Given the description of an element on the screen output the (x, y) to click on. 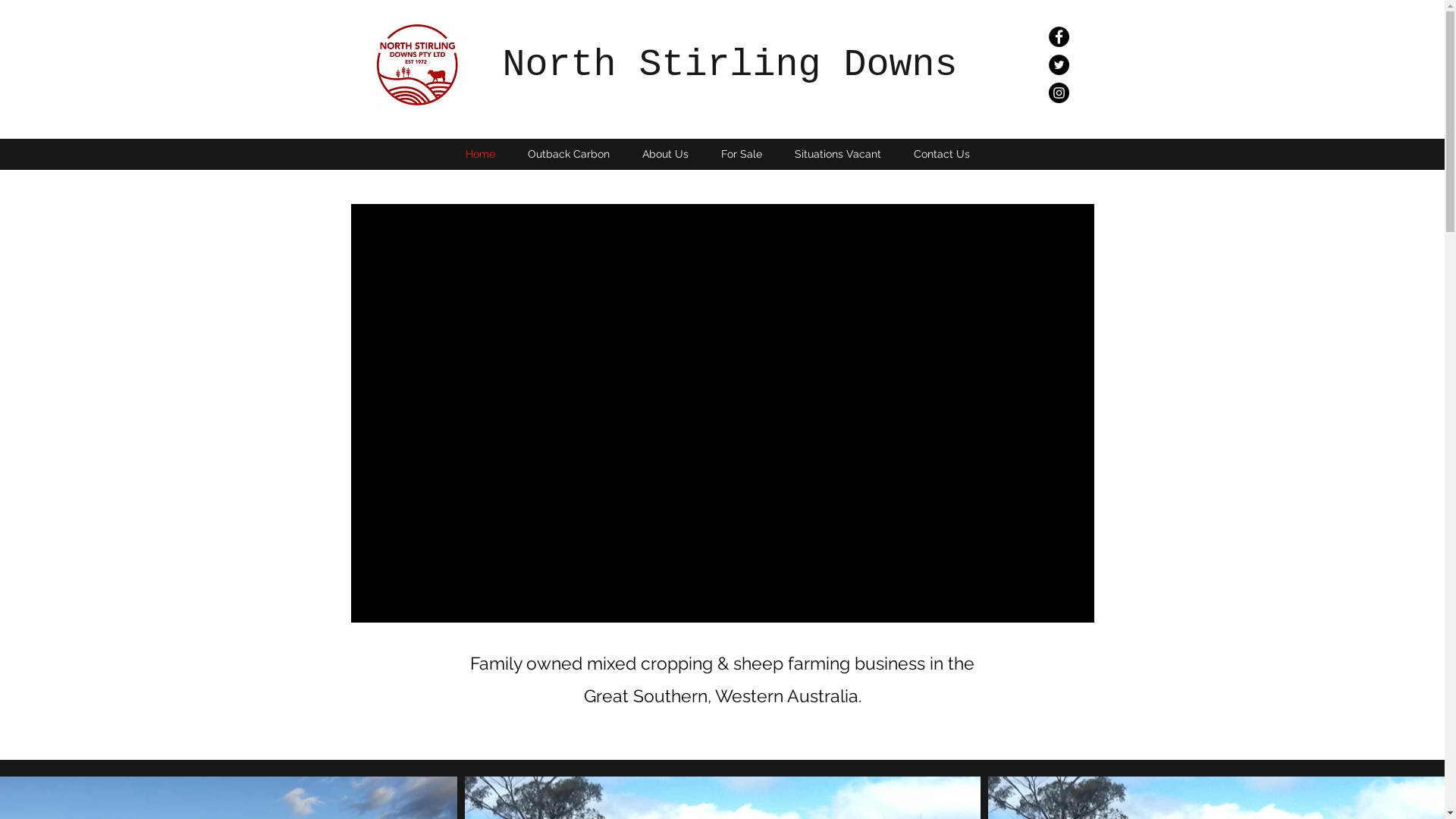
Outback Carbon Element type: text (568, 153)
Situations Vacant Element type: text (837, 153)
About Us Element type: text (665, 153)
Contact Us Element type: text (941, 153)
Home Element type: text (479, 153)
For Sale Element type: text (741, 153)
